Given the description of an element on the screen output the (x, y) to click on. 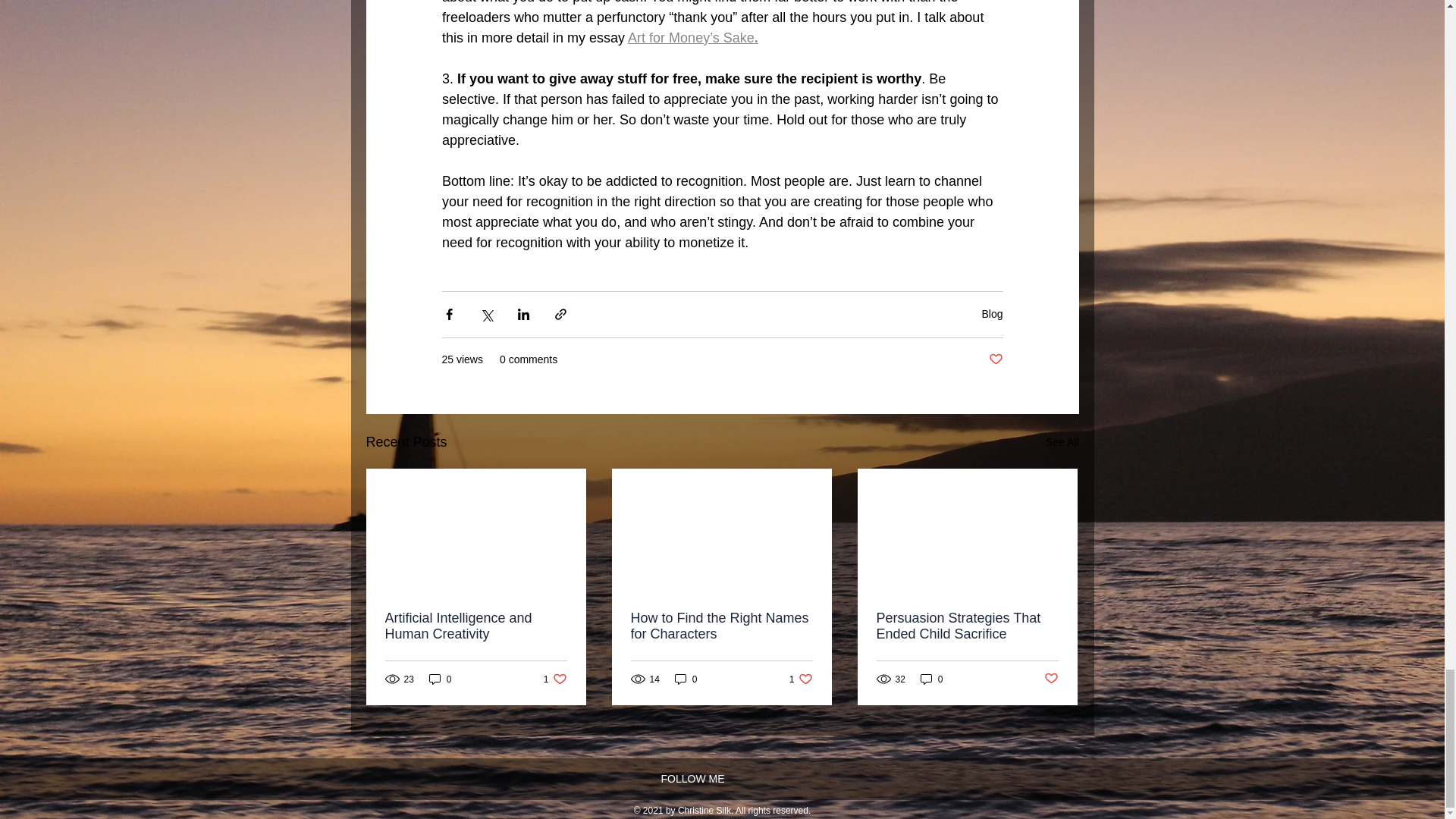
0 (440, 678)
Artificial Intelligence and Human Creativity (555, 678)
Post not marked as liked (476, 626)
See All (995, 359)
Blog (1061, 442)
